Given the description of an element on the screen output the (x, y) to click on. 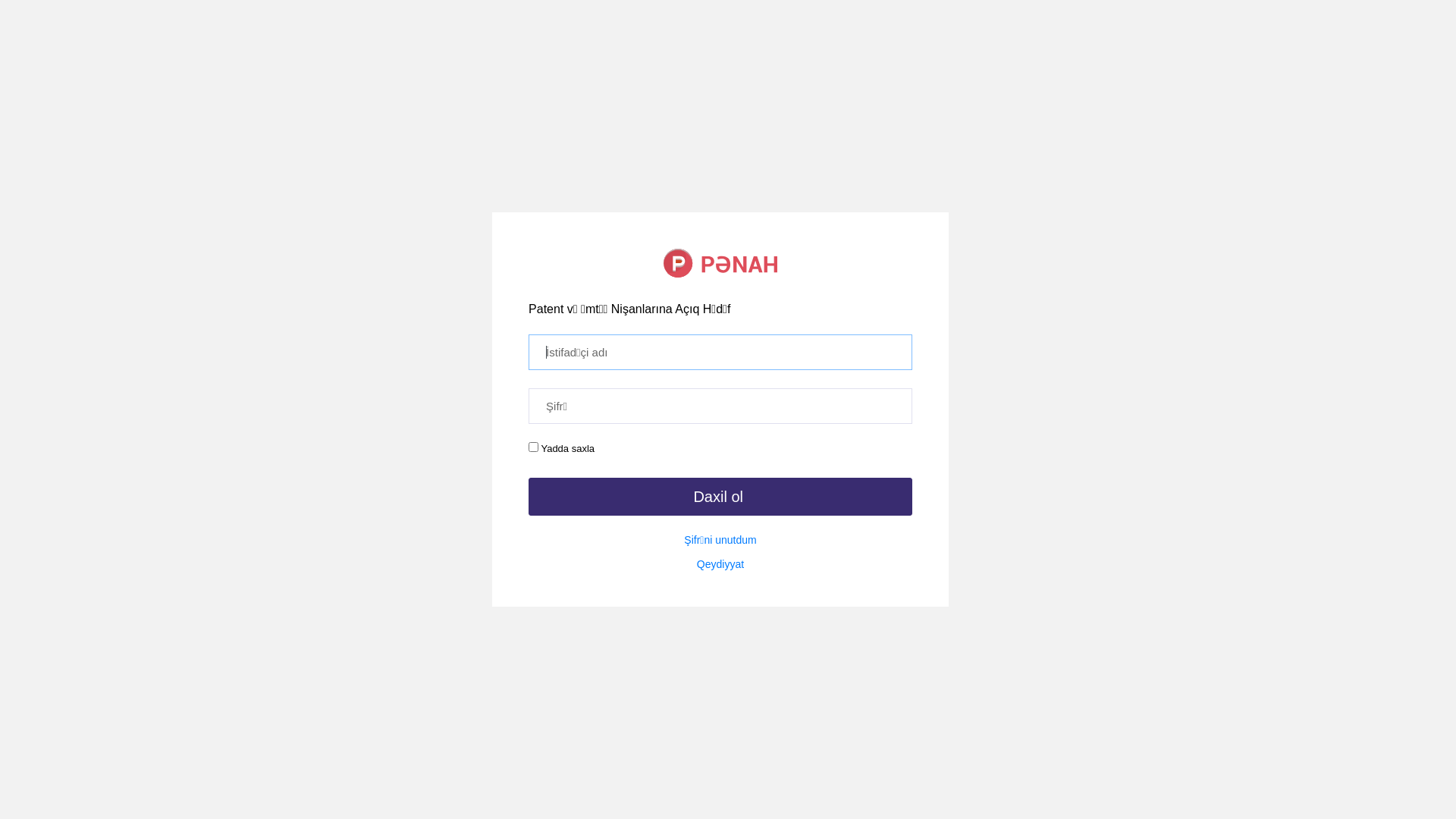
Qeydiyyat Element type: text (719, 564)
Daxil ol Element type: text (720, 496)
